Given the description of an element on the screen output the (x, y) to click on. 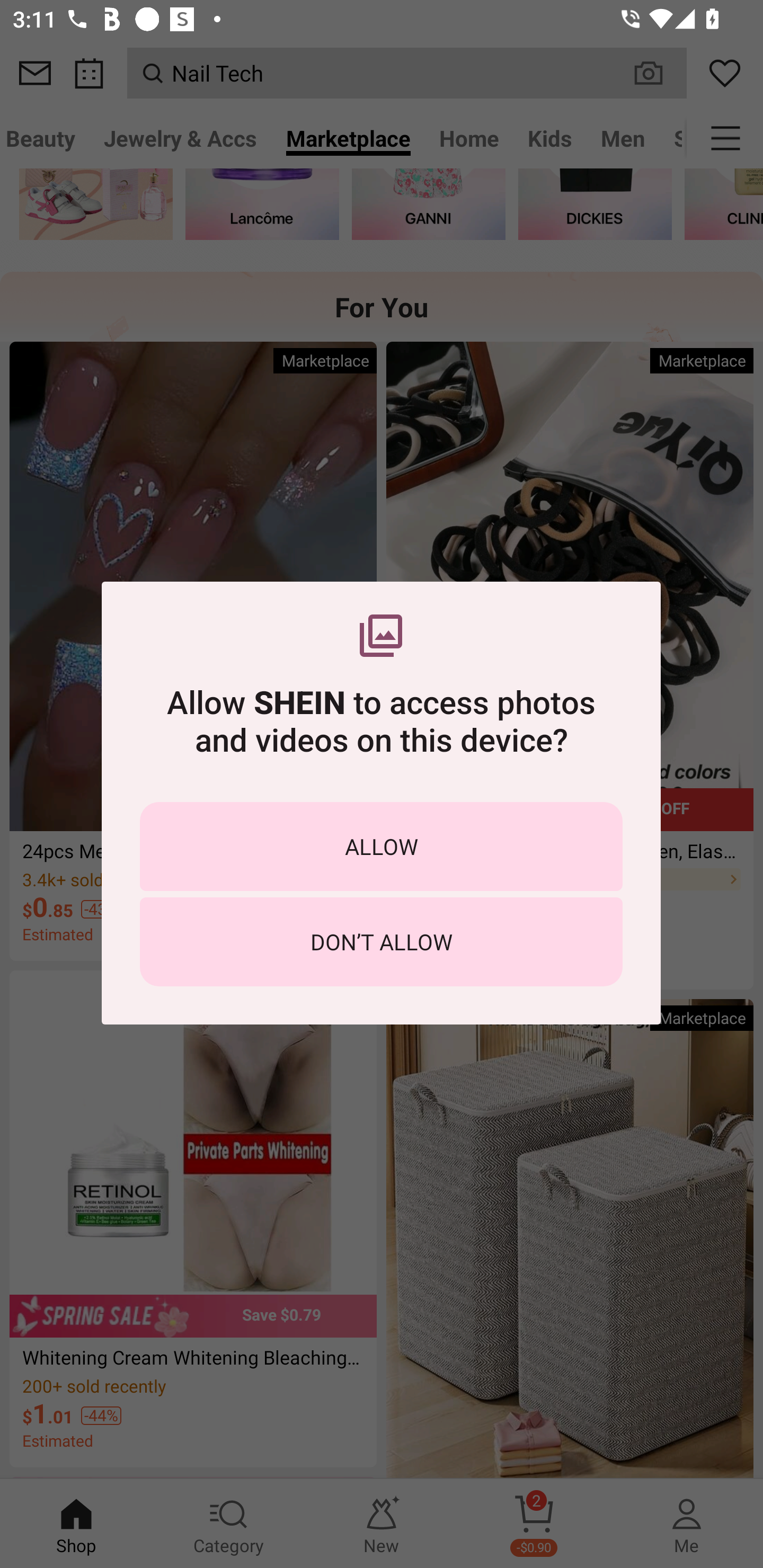
ALLOW (380, 845)
DON’T ALLOW (380, 941)
